Given the description of an element on the screen output the (x, y) to click on. 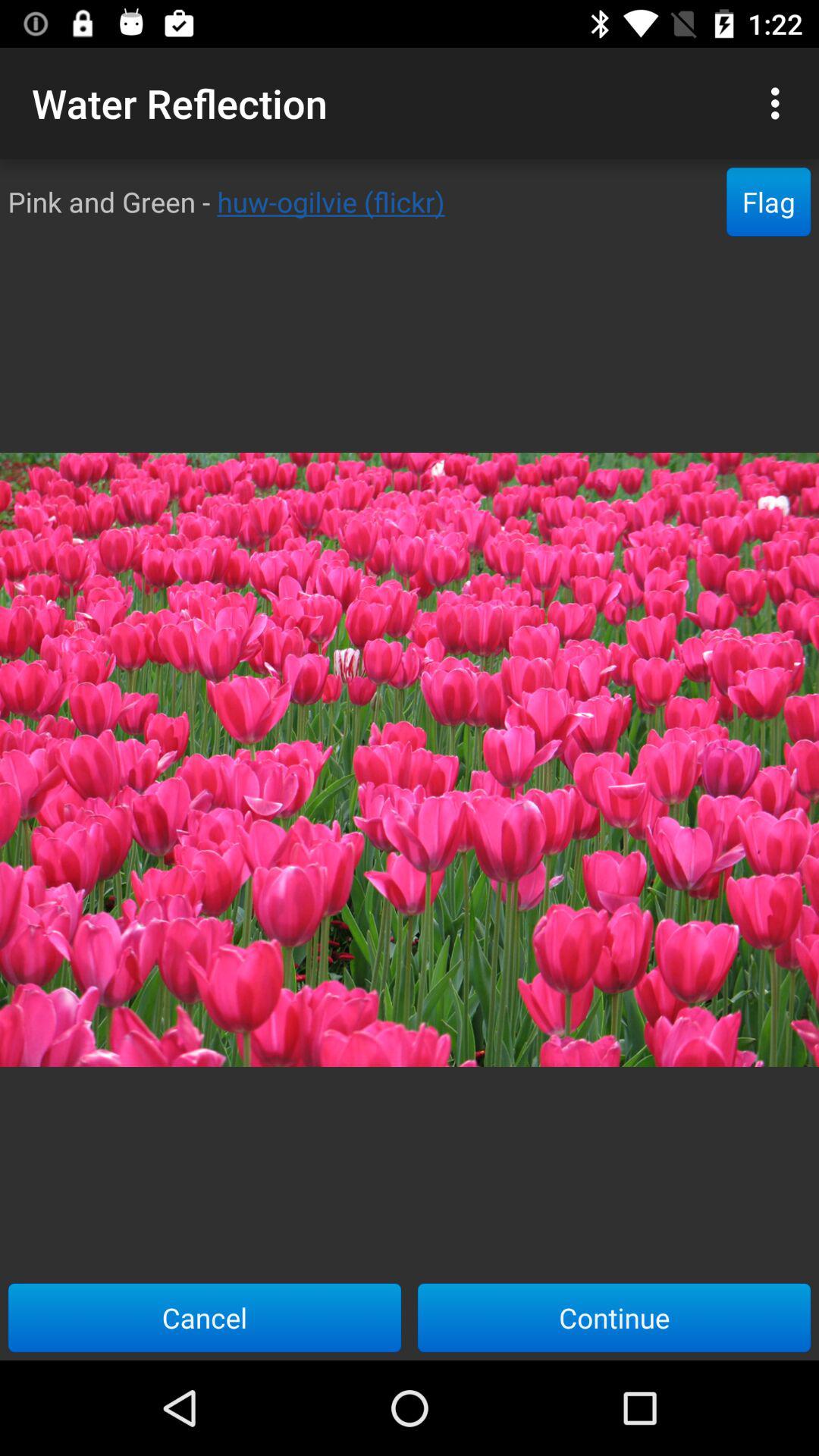
turn off the item to the left of continue item (204, 1317)
